Given the description of an element on the screen output the (x, y) to click on. 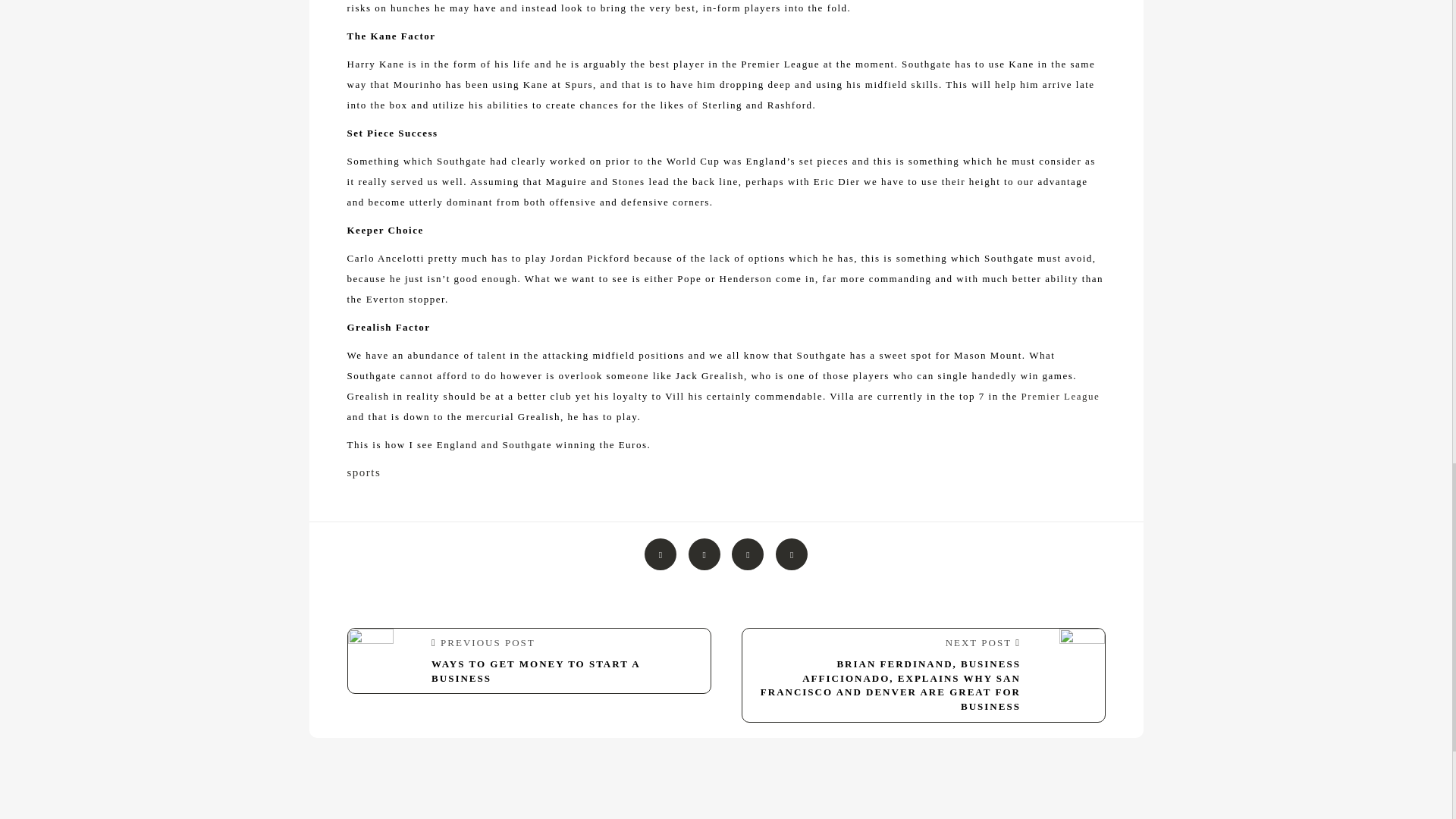
Click to share this post on Twitter (704, 554)
sports (364, 472)
Click to share this post on Facebook (661, 554)
Click to share this post on Linkedin (792, 554)
Premier League (1061, 396)
